Given the description of an element on the screen output the (x, y) to click on. 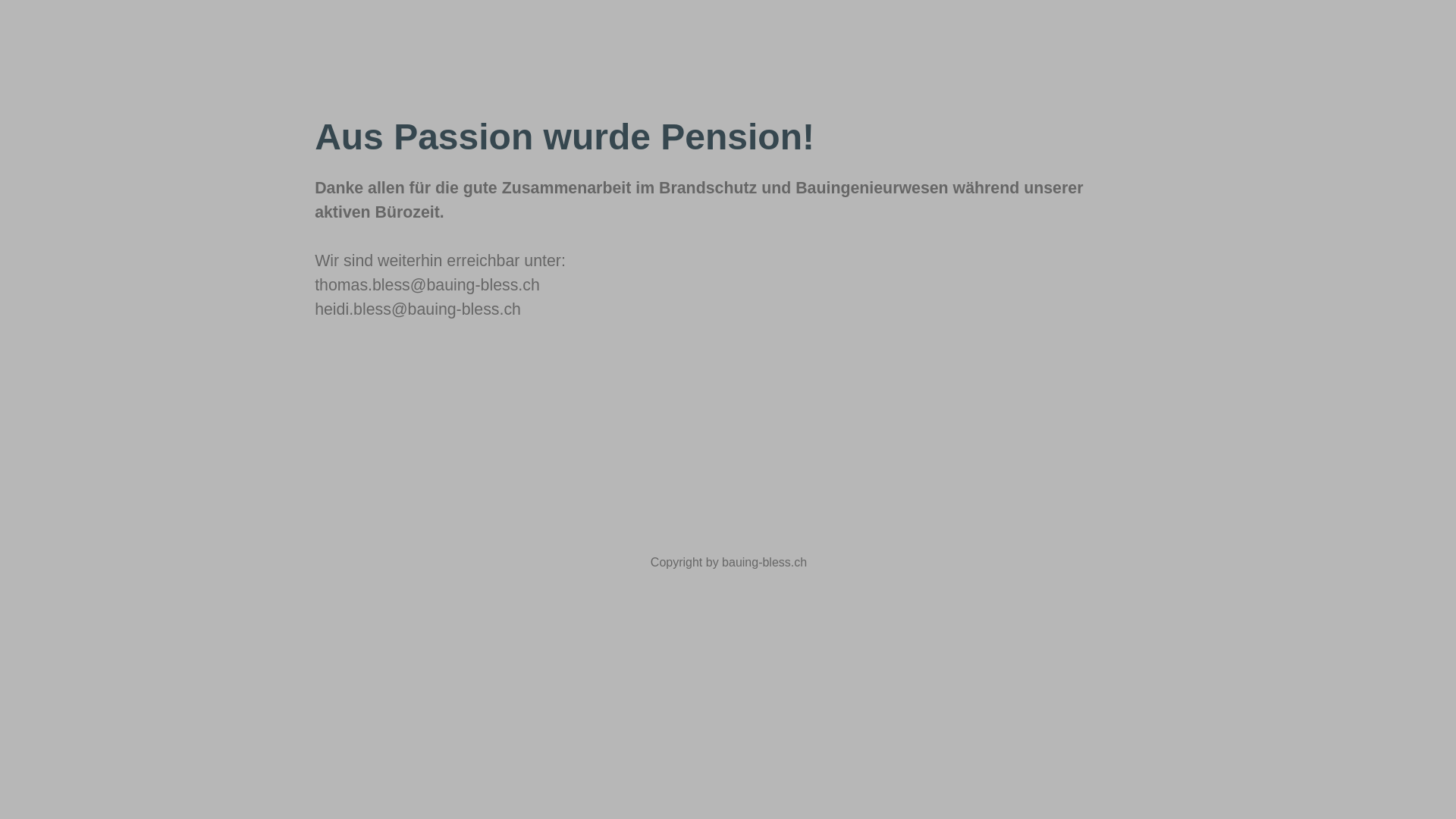
heidi.bless@bauing-bless.ch Element type: text (417, 309)
thomas.bless@bauing-bless.ch Element type: text (426, 285)
